Given the description of an element on the screen output the (x, y) to click on. 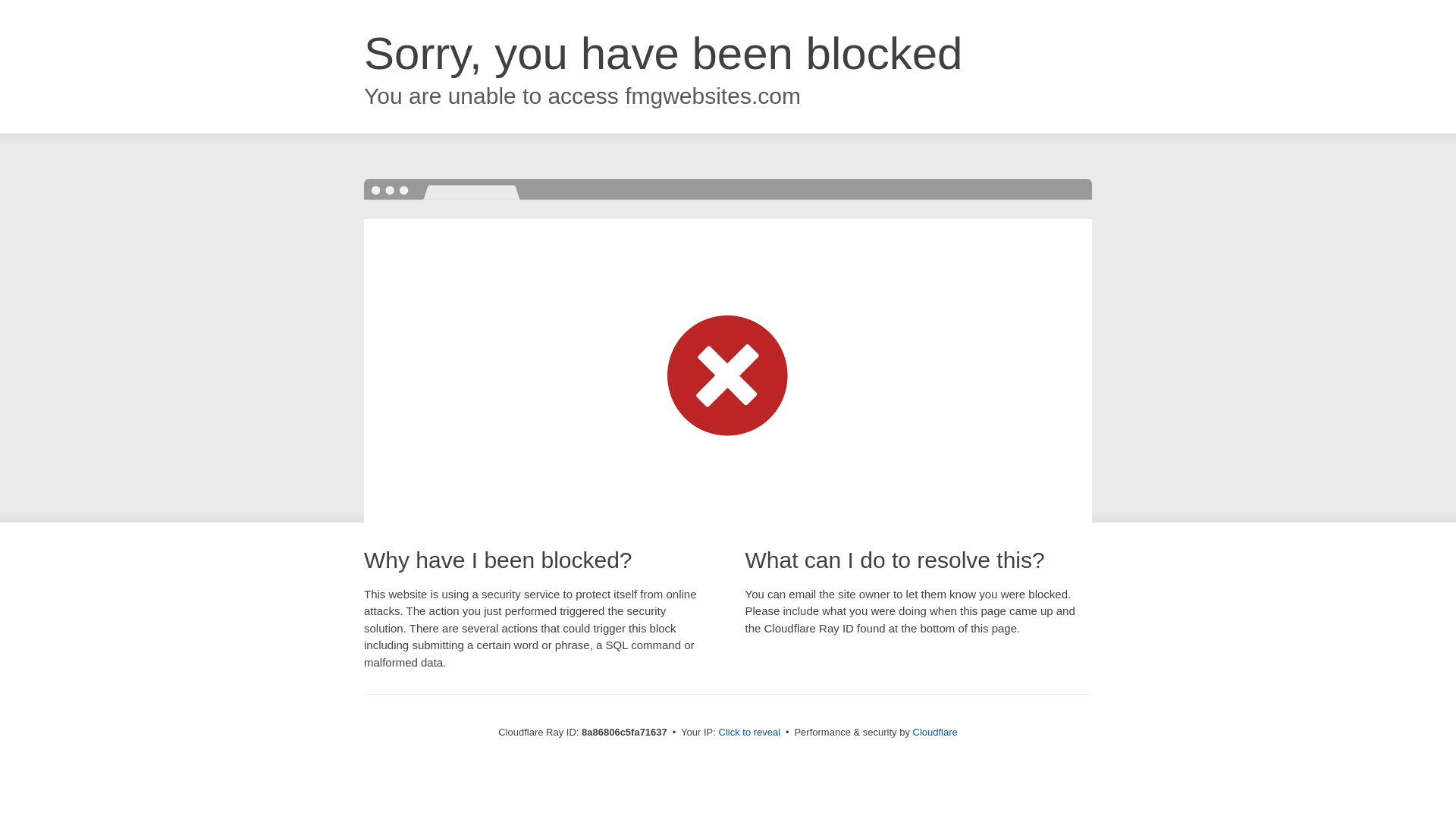
Click to reveal (749, 732)
Cloudflare (935, 731)
